Given the description of an element on the screen output the (x, y) to click on. 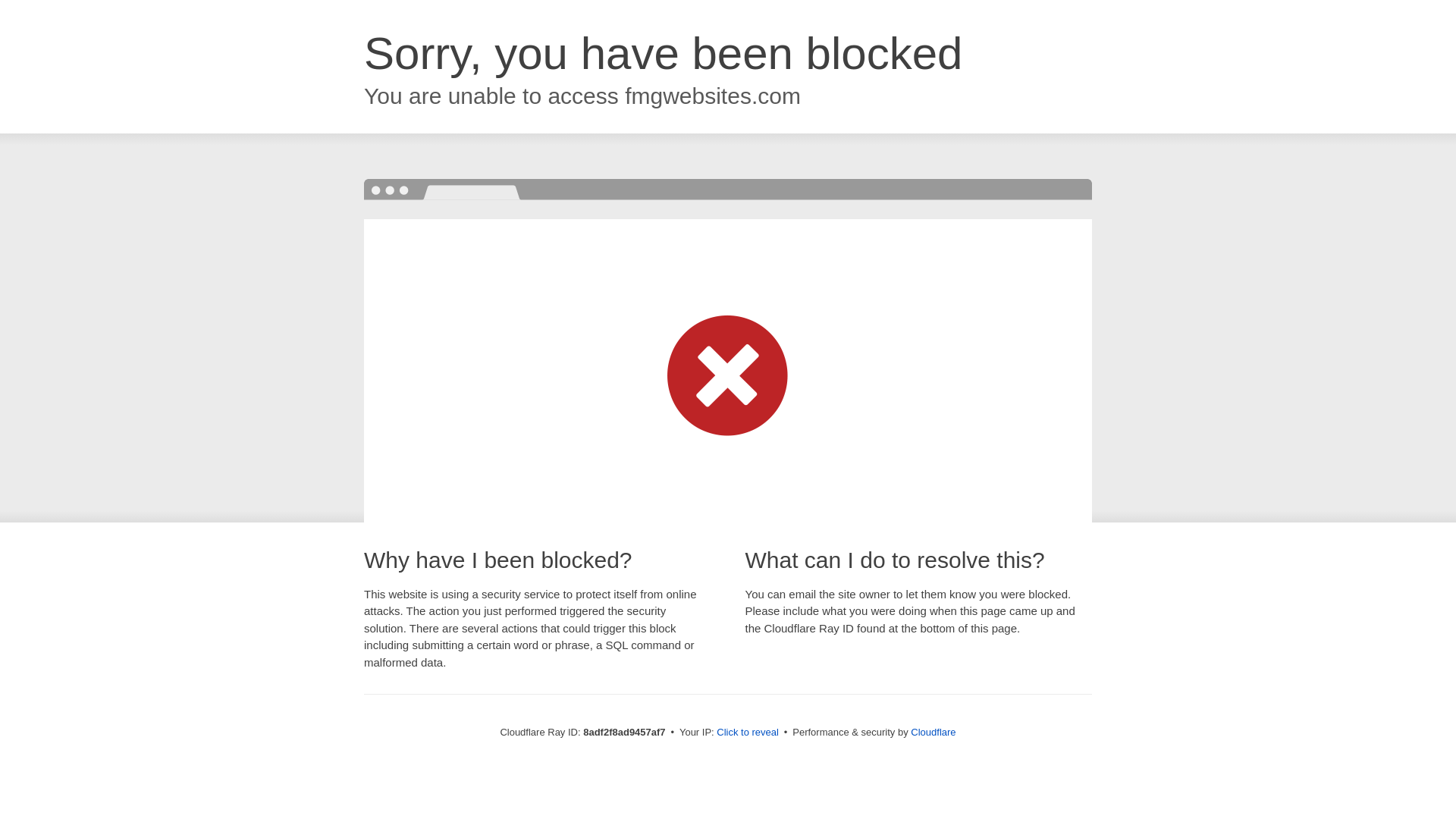
Cloudflare (936, 731)
Click to reveal (751, 732)
